Given the description of an element on the screen output the (x, y) to click on. 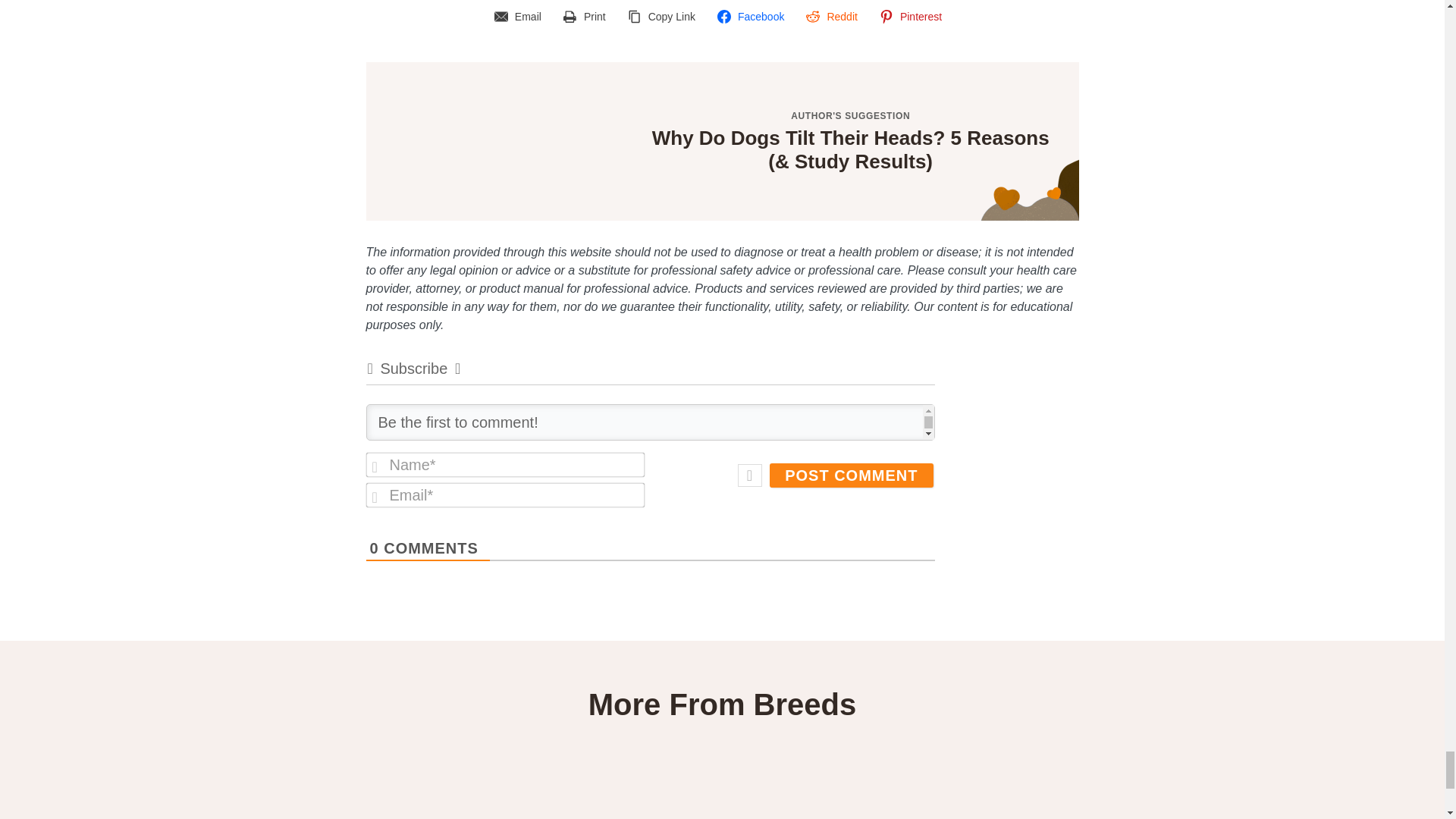
Post Comment (851, 475)
